Given the description of an element on the screen output the (x, y) to click on. 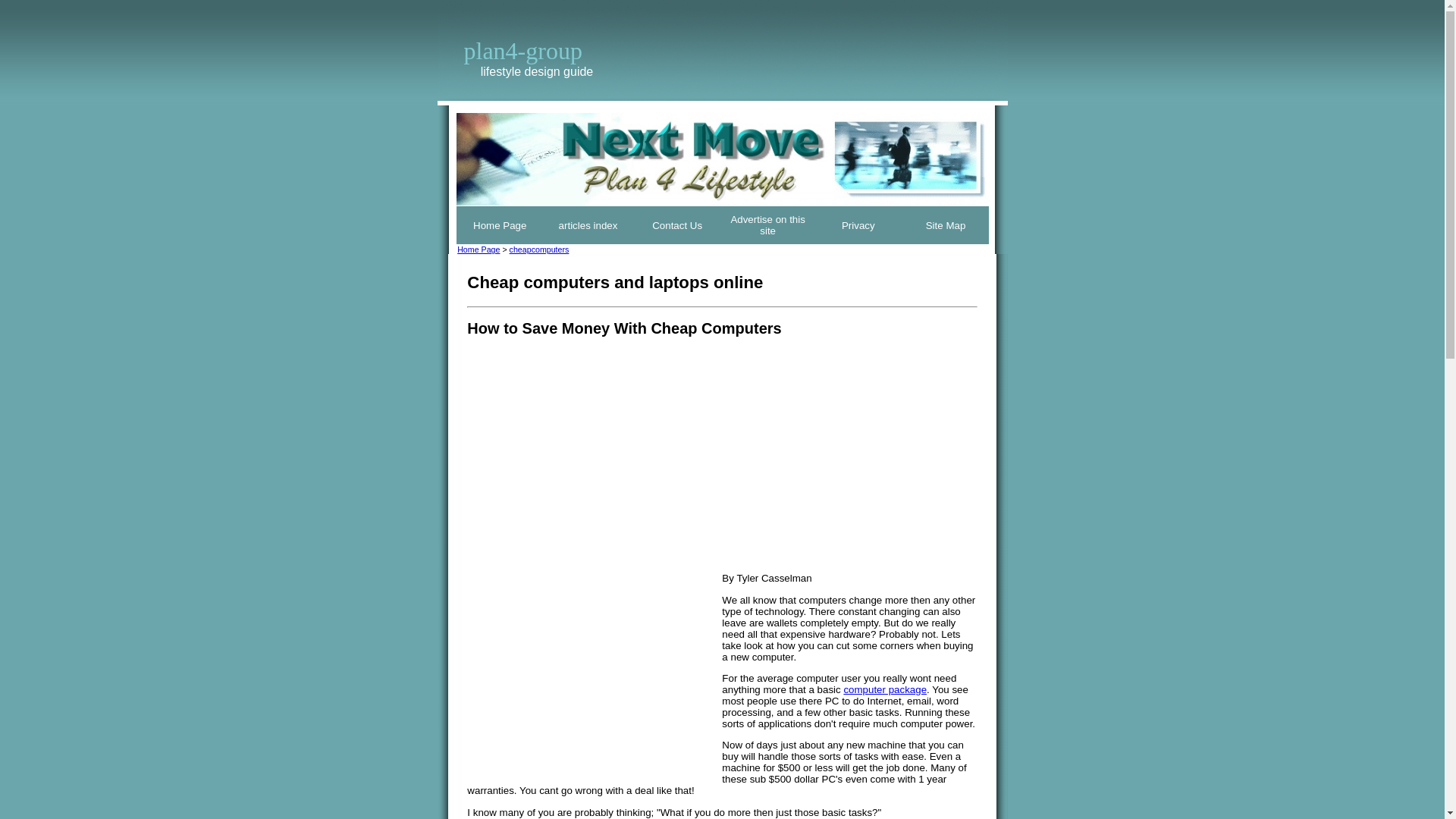
articles index (587, 225)
Home Page (478, 248)
Privacy (858, 225)
Contact Us (677, 225)
Advertise on this site (767, 224)
plan 4 header home extension (722, 159)
cheapcomputers (539, 248)
Advertisement (594, 668)
computer package (884, 689)
Site Map (946, 225)
